Given the description of an element on the screen output the (x, y) to click on. 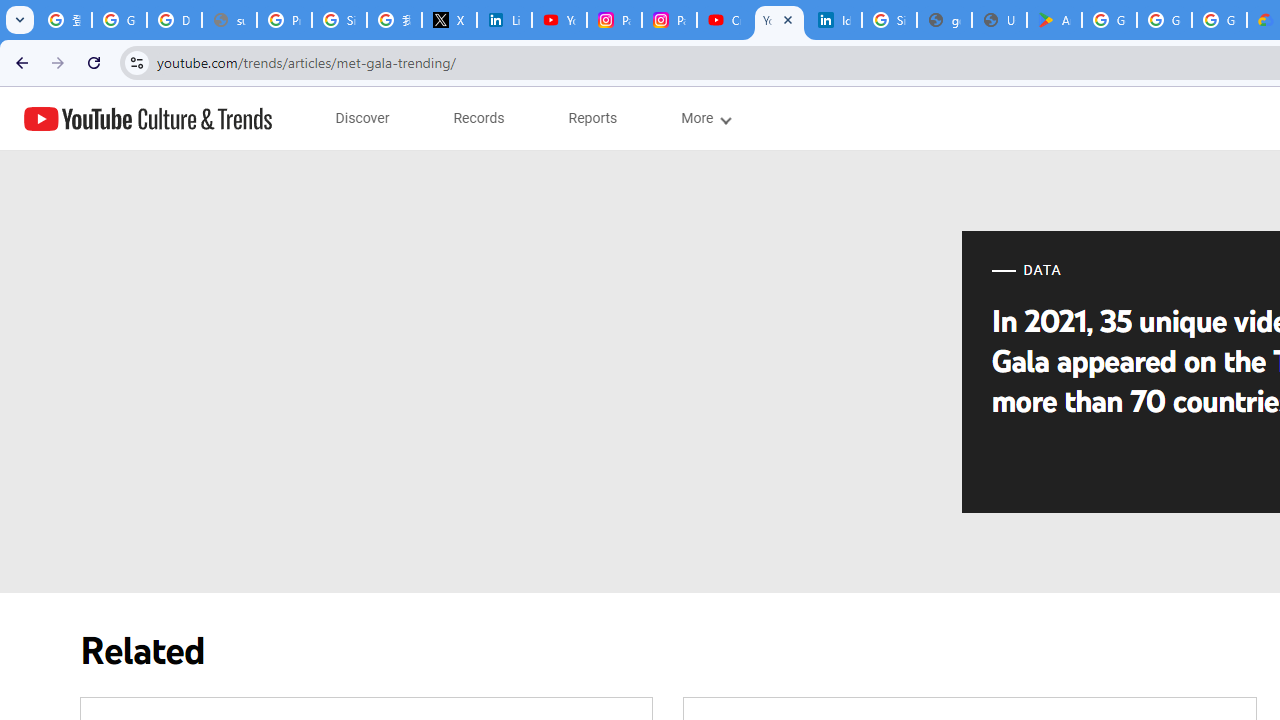
subnav-Records menupopup (479, 118)
Android Apps on Google Play (1053, 20)
subnav-More menupopup (704, 118)
LinkedIn Privacy Policy (504, 20)
subnav-Reports menupopup (593, 118)
support.google.com - Network error (229, 20)
Sign in - Google Accounts (339, 20)
JUMP TO CONTENT (209, 119)
